Given the description of an element on the screen output the (x, y) to click on. 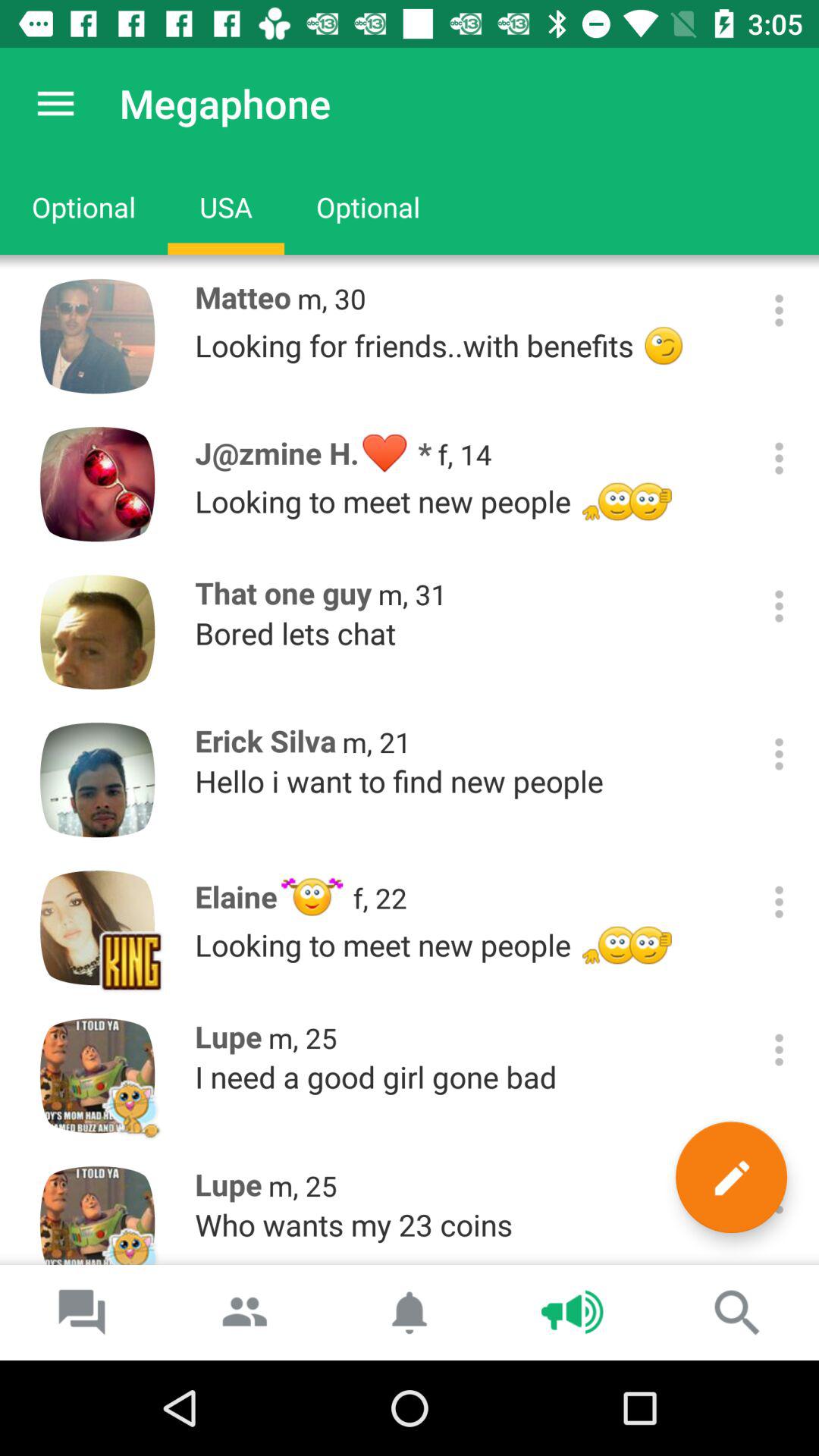
get more options (779, 606)
